Given the description of an element on the screen output the (x, y) to click on. 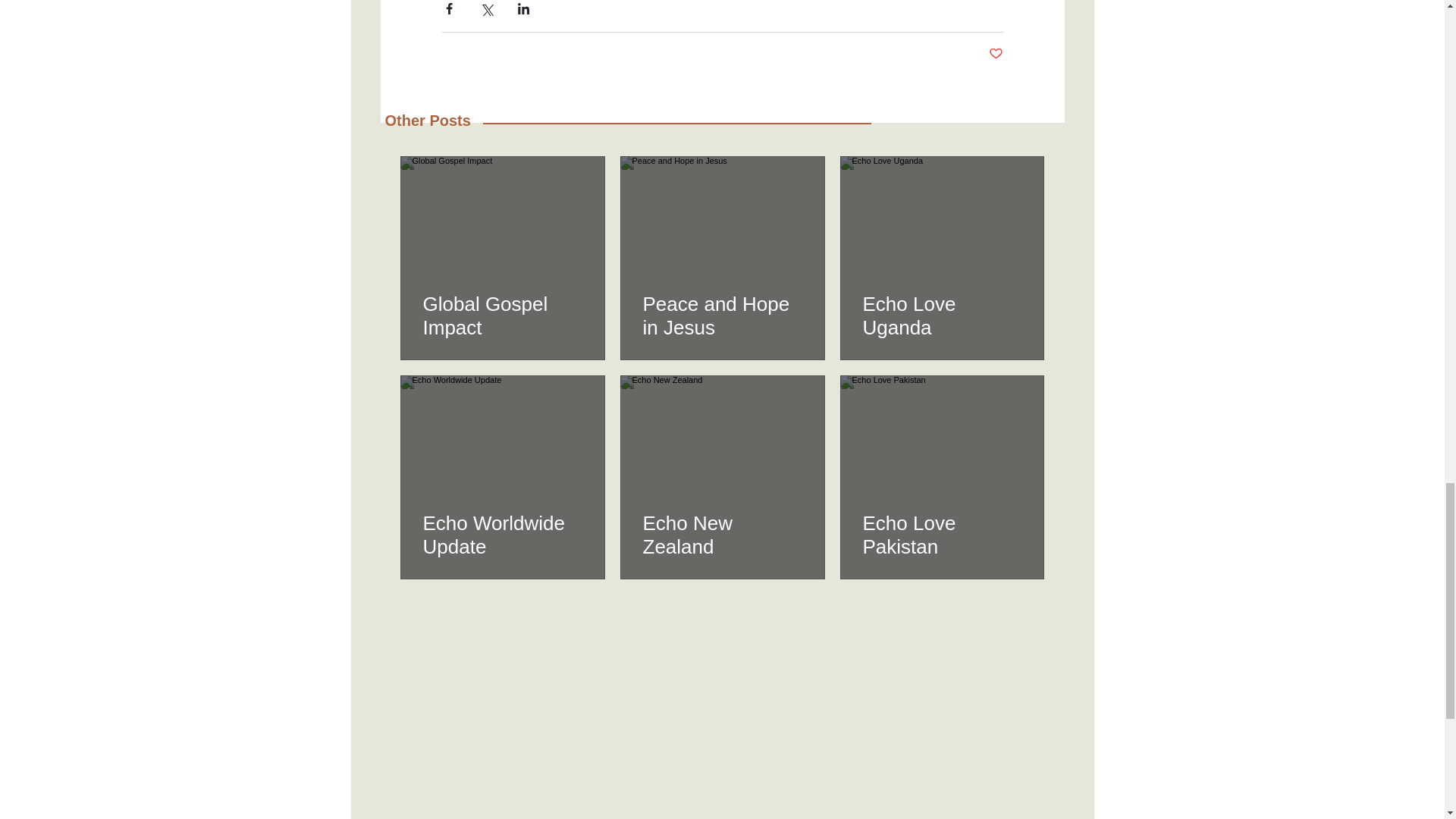
Echo New Zealand (722, 534)
Echo Worldwide Update (502, 534)
Peace and Hope in Jesus (722, 315)
Echo Love Uganda (942, 315)
Echo Love Pakistan (942, 534)
Global Gospel Impact (502, 315)
Post not marked as liked (995, 53)
